Given the description of an element on the screen output the (x, y) to click on. 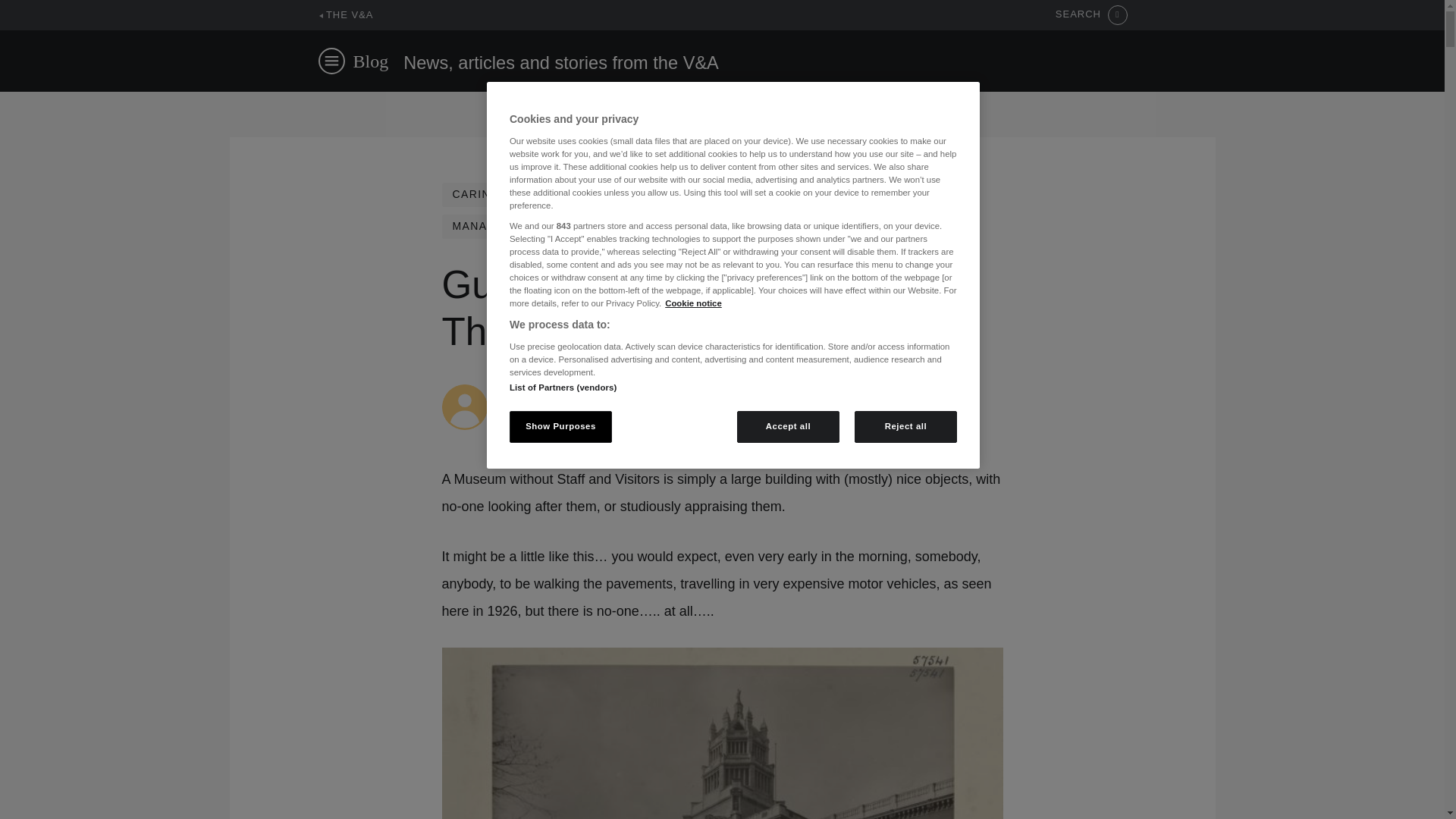
CONSERVATION (730, 194)
Blog (370, 60)
Posts by Steve Woodhouse (546, 391)
SEARCH (1090, 15)
CARING FOR OUR COLLECTIONS (551, 194)
Steve Woodhouse (546, 391)
MANAGING OUR COLLECTIONS (545, 226)
